Given the description of an element on the screen output the (x, y) to click on. 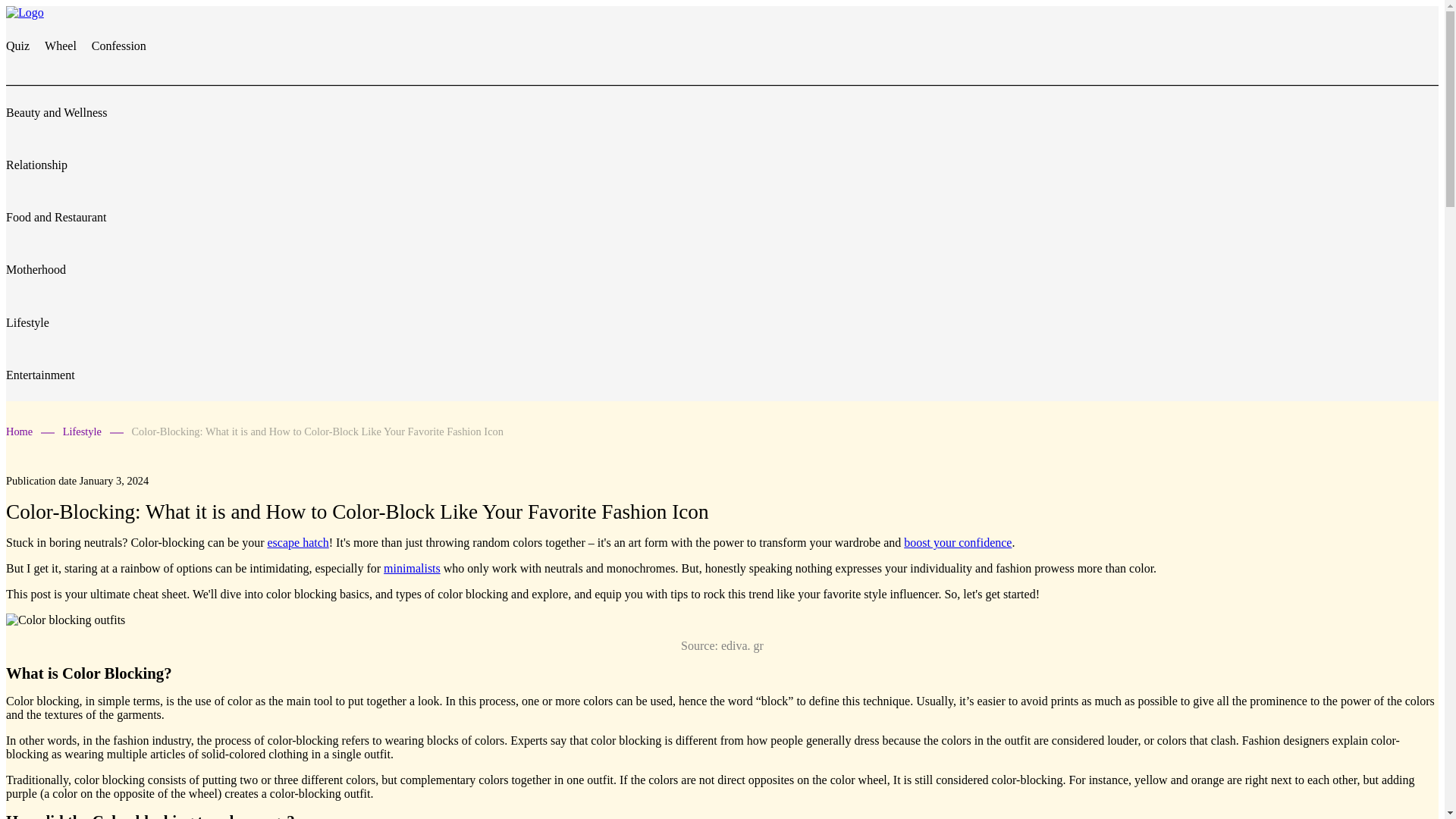
boost your confidence (957, 542)
Wheel (62, 45)
Food and Restaurant (55, 216)
Quiz (18, 45)
Home   (30, 431)
ediva. gr (741, 645)
Relationship (35, 164)
Lifestyle (27, 322)
Motherhood (35, 269)
Entertainment (40, 374)
Confession (119, 45)
Beauty and Wellness (56, 112)
escape hatch (297, 542)
minimalists (412, 567)
